Given the description of an element on the screen output the (x, y) to click on. 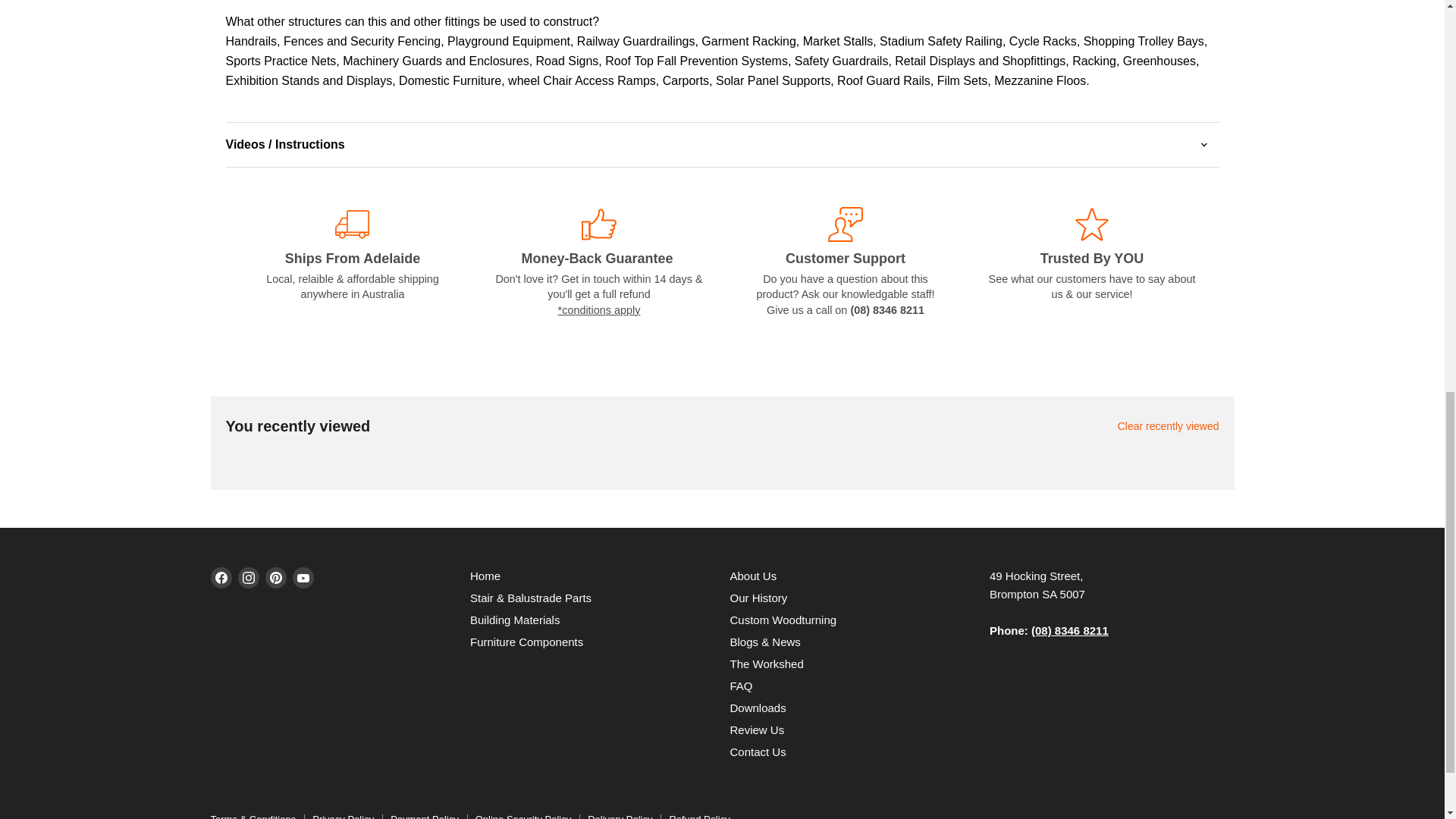
Instagram (248, 577)
Refund Policy (598, 309)
tel:0883468211 (1069, 630)
YouTube (303, 577)
Pinterest (275, 577)
Facebook (221, 577)
